Given the description of an element on the screen output the (x, y) to click on. 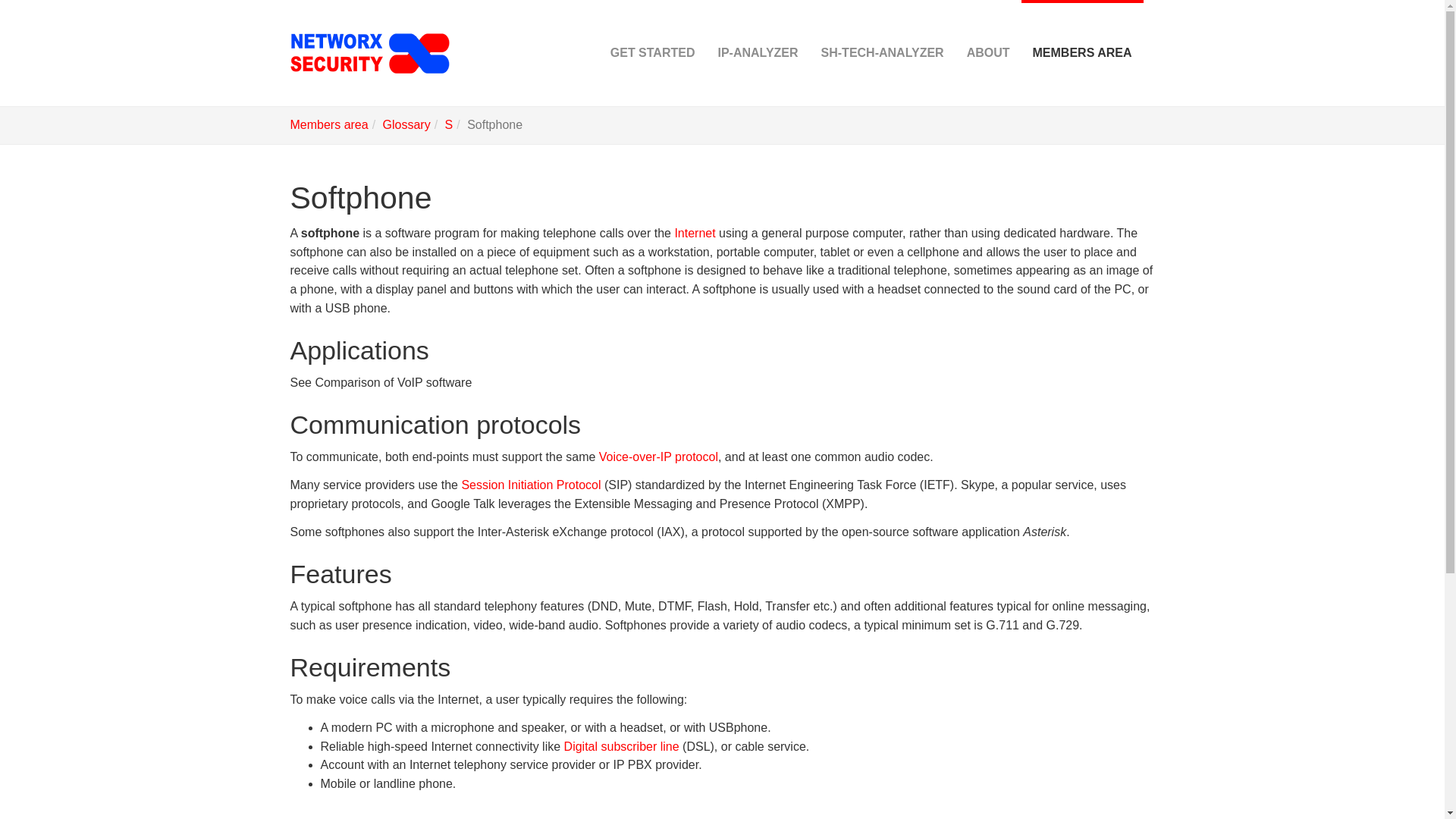
Glossary (406, 124)
GET STARTED (652, 53)
Session Initiation Protocol (530, 484)
Glossary (406, 124)
MEMBERS AREA (1082, 53)
SH-TECH-ANALYZER (882, 53)
get started (652, 53)
Voice-over-IP protocol (657, 456)
Digital subscriber line (621, 746)
IP-ANALYZER (757, 53)
